Given the description of an element on the screen output the (x, y) to click on. 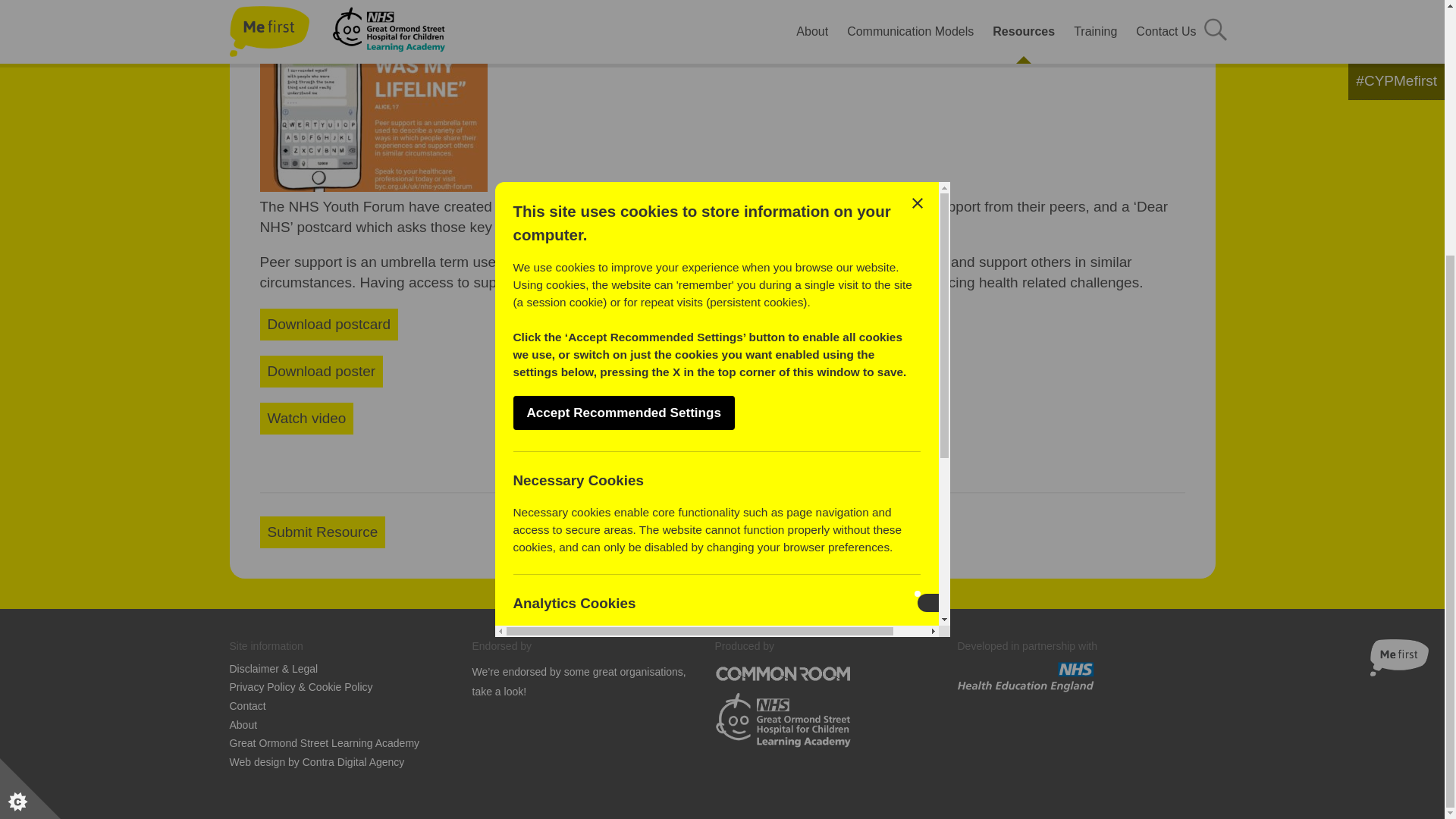
Submit Resource (322, 531)
Download postcard (328, 324)
Download poster (320, 371)
Watch video (306, 418)
Contact (246, 706)
Web design by Contra Digital Agency (316, 762)
Endorsed by (501, 645)
About (242, 725)
Great Ormond Street Learning Academy (323, 743)
Me first (1398, 658)
